Given the description of an element on the screen output the (x, y) to click on. 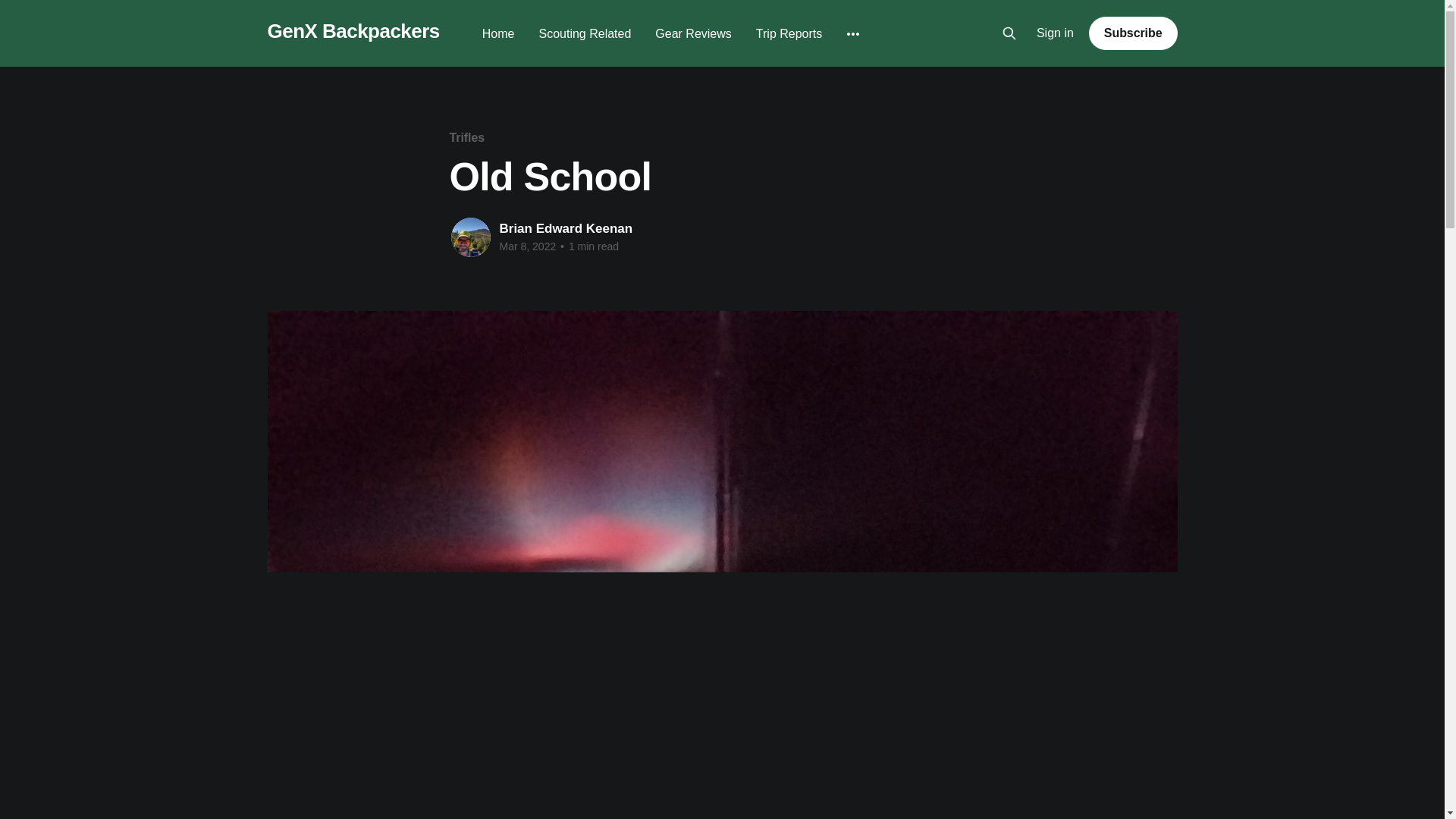
Gear Reviews (692, 33)
Trip Reports (788, 33)
Scouting Related (584, 33)
Brian Edward Keenan (565, 228)
GenX Backpackers (352, 31)
Sign in (1055, 33)
Home (498, 33)
Subscribe (1133, 32)
Trifles (466, 137)
